Given the description of an element on the screen output the (x, y) to click on. 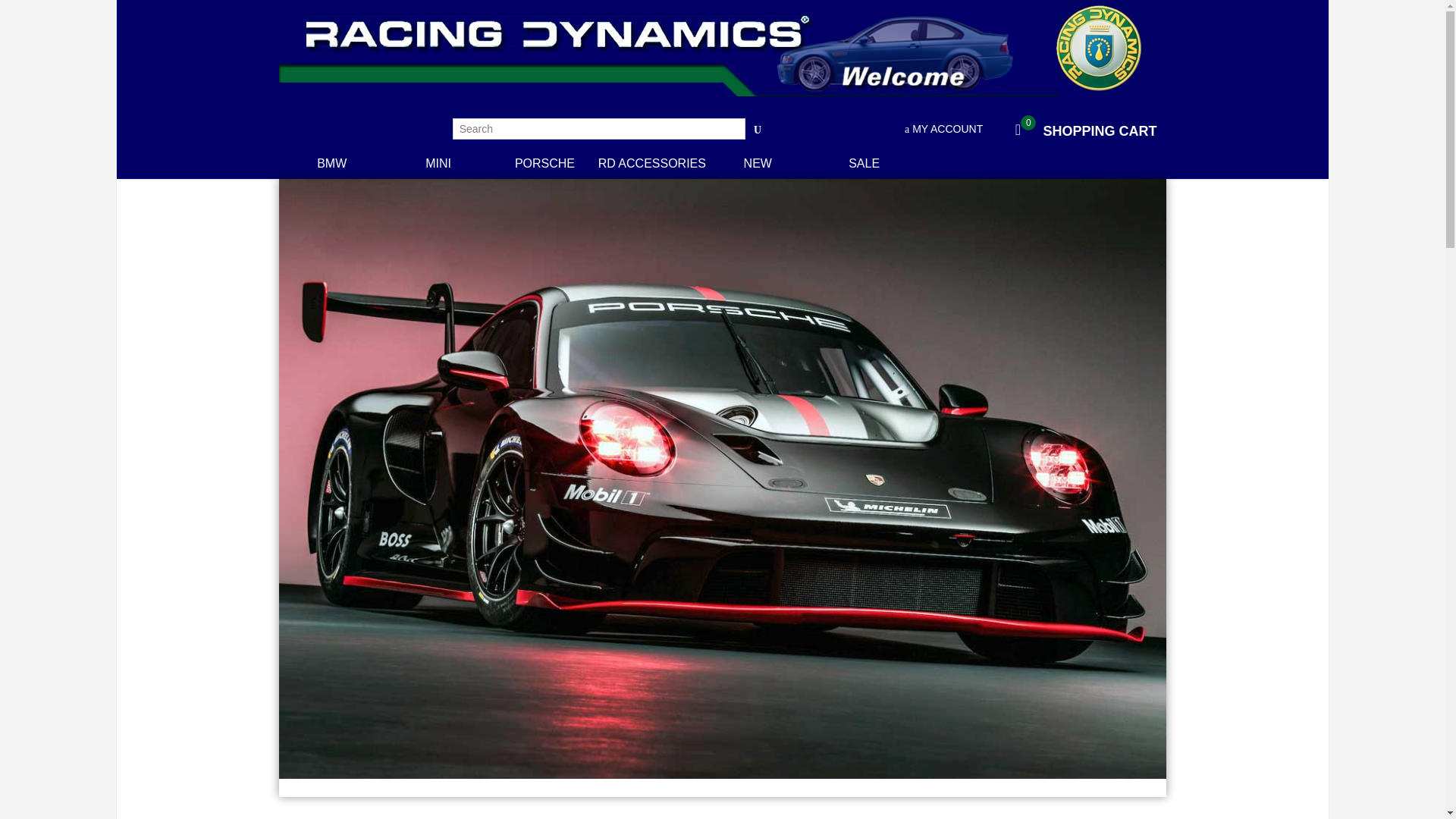
Racing Dynamics (427, 101)
MY ACCOUNT (1081, 130)
